Given the description of an element on the screen output the (x, y) to click on. 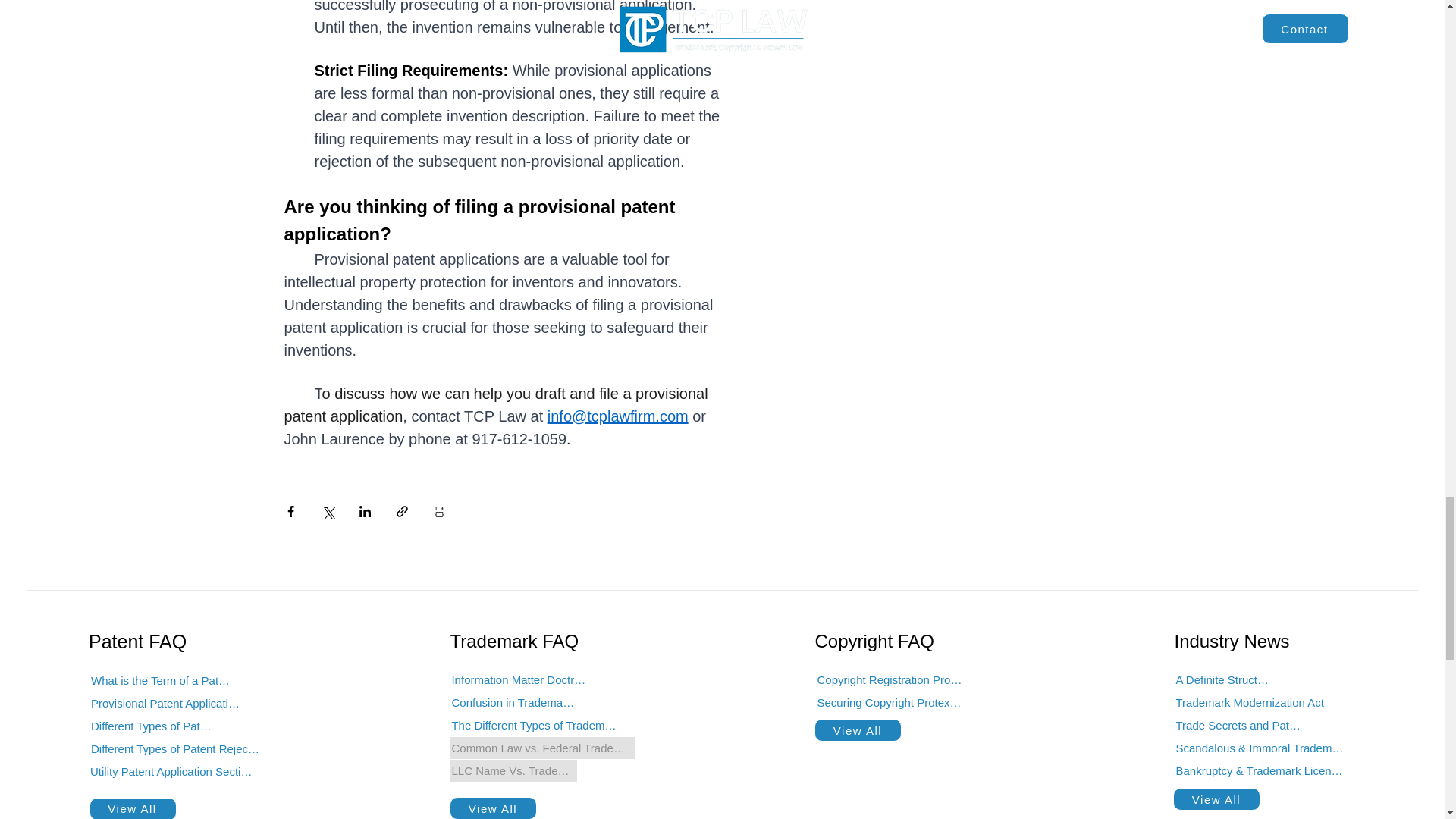
Trade Secrets and Patents (1239, 725)
Different Types of Patents (152, 725)
Common Law vs. Federal Trademarks (541, 748)
What is the Term of a Patent? (161, 680)
Different Types of Patent Rejections (176, 748)
Provisional Patent Applications (167, 703)
Information Matter Doctrine (519, 680)
View All (493, 807)
Copyright Registration Process (891, 680)
Trademark Modernization Act (1249, 702)
